Given the description of an element on the screen output the (x, y) to click on. 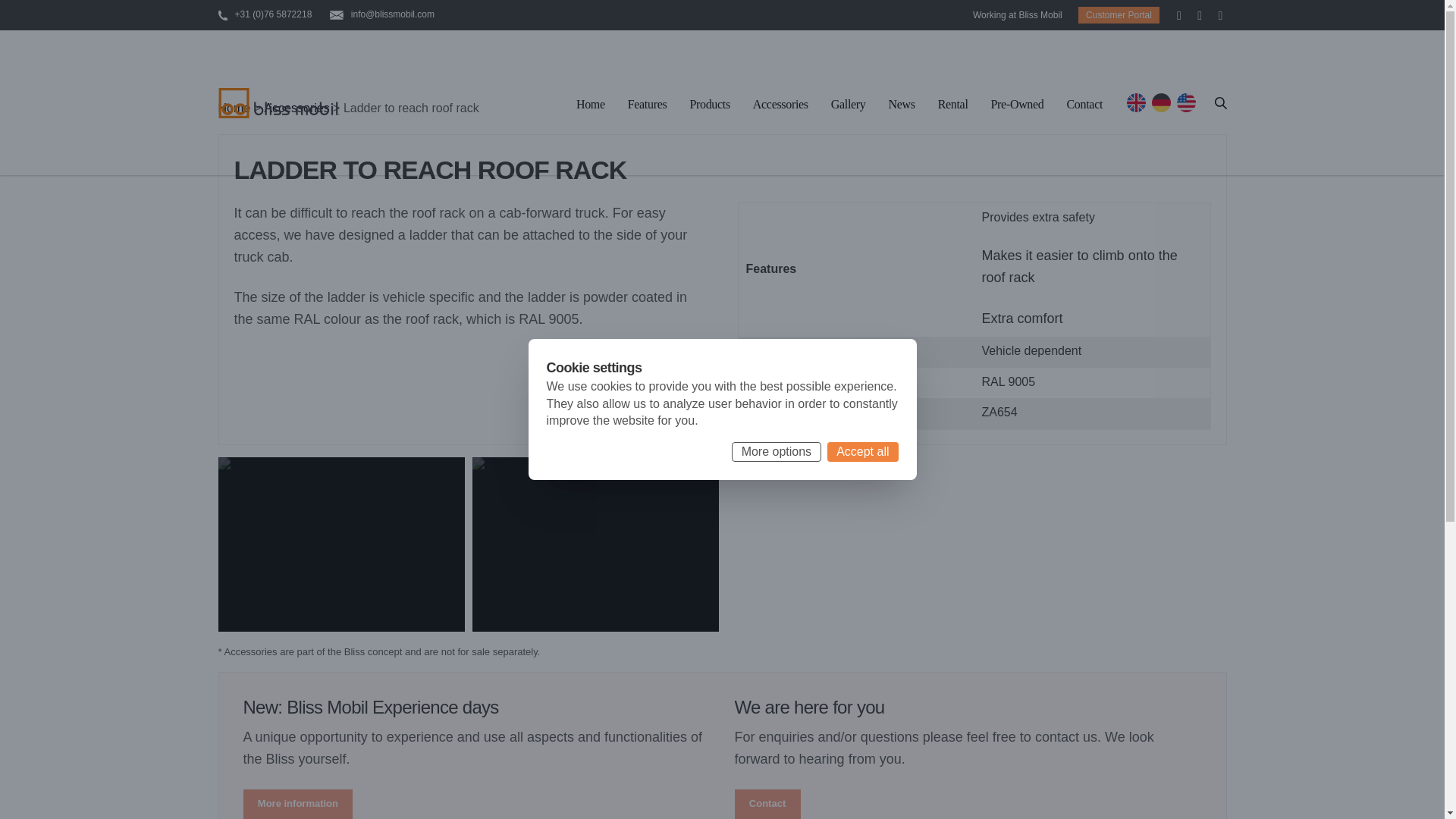
Contact (766, 803)
Accessories (296, 108)
ladder to reach roof rack (341, 544)
Pre-Owned (1017, 106)
Working at Bliss Mobil (1017, 14)
Bliss Mobil (278, 102)
More information (297, 803)
Home (234, 108)
Customer Portal (1118, 14)
Accessories (780, 106)
